Given the description of an element on the screen output the (x, y) to click on. 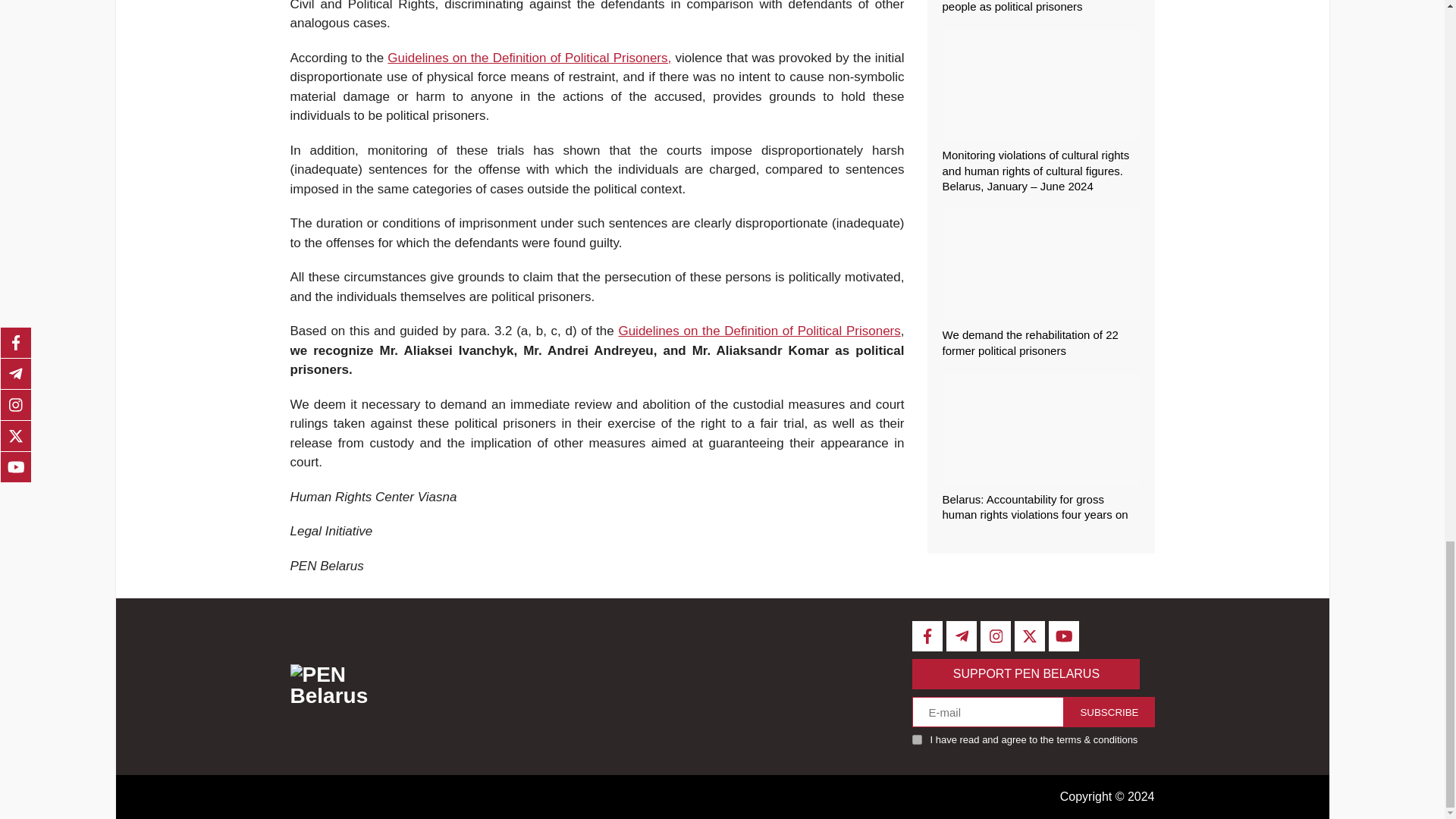
Guidelines on the Definition of Political Prisoners (758, 330)
Subscribe (1109, 711)
PEN Belarus (350, 687)
1 (916, 739)
Guidelines on the Definition of Political Prisoners, (529, 57)
